Given the description of an element on the screen output the (x, y) to click on. 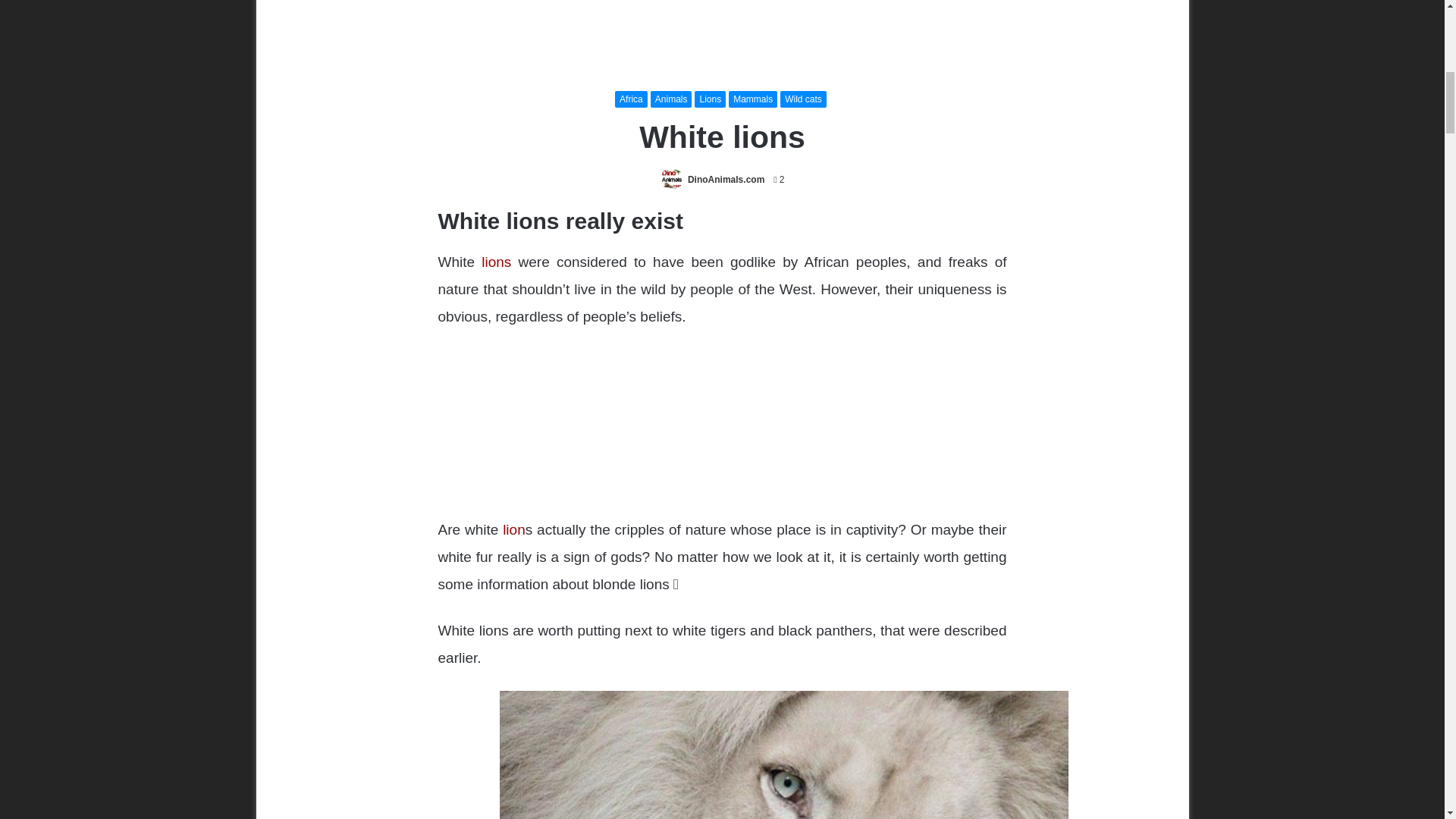
DinoAnimals.com (725, 179)
